Given the description of an element on the screen output the (x, y) to click on. 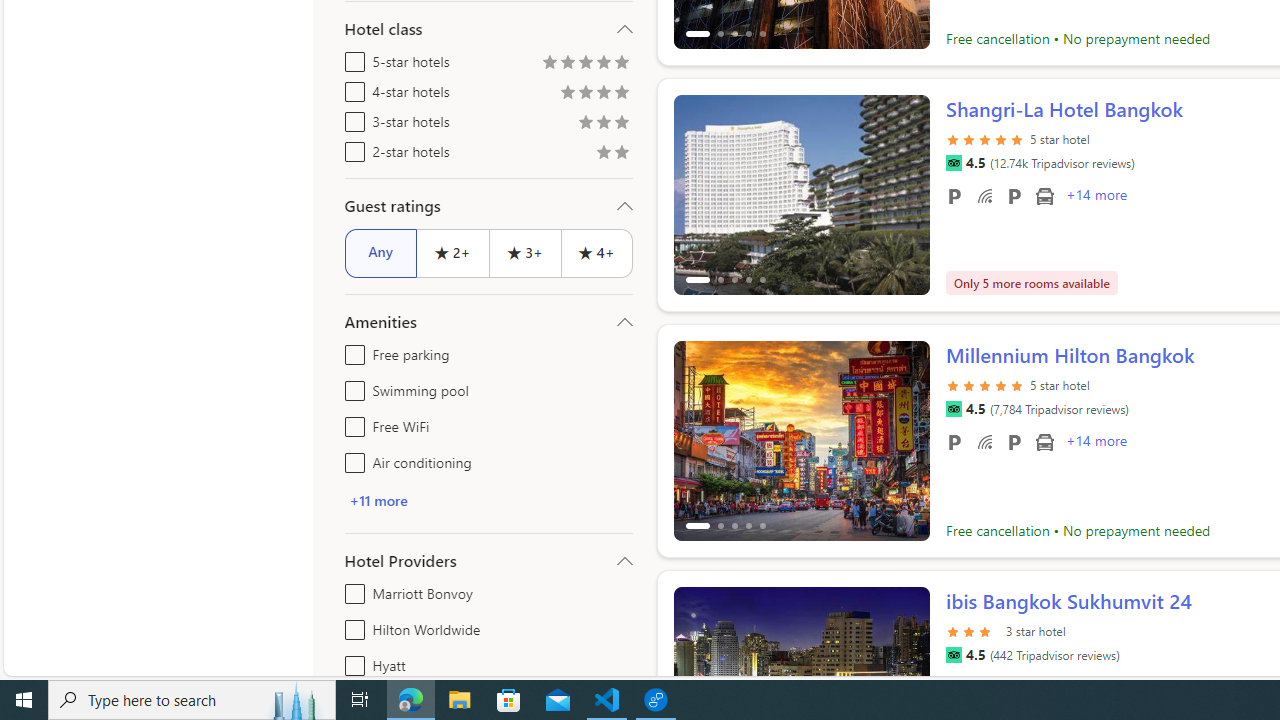
+11 more (488, 500)
Any (380, 252)
2-star hotels (351, 147)
ScrollLeft (697, 678)
4+ (596, 252)
Free WiFi (984, 441)
Air conditioning (351, 458)
Hotel class (488, 29)
Hilton Worldwide (351, 625)
Guest ratings (488, 205)
Free WiFi (351, 422)
3-star hotels (351, 118)
star rating (973, 630)
Free parking (953, 441)
5-star hotels (351, 57)
